Given the description of an element on the screen output the (x, y) to click on. 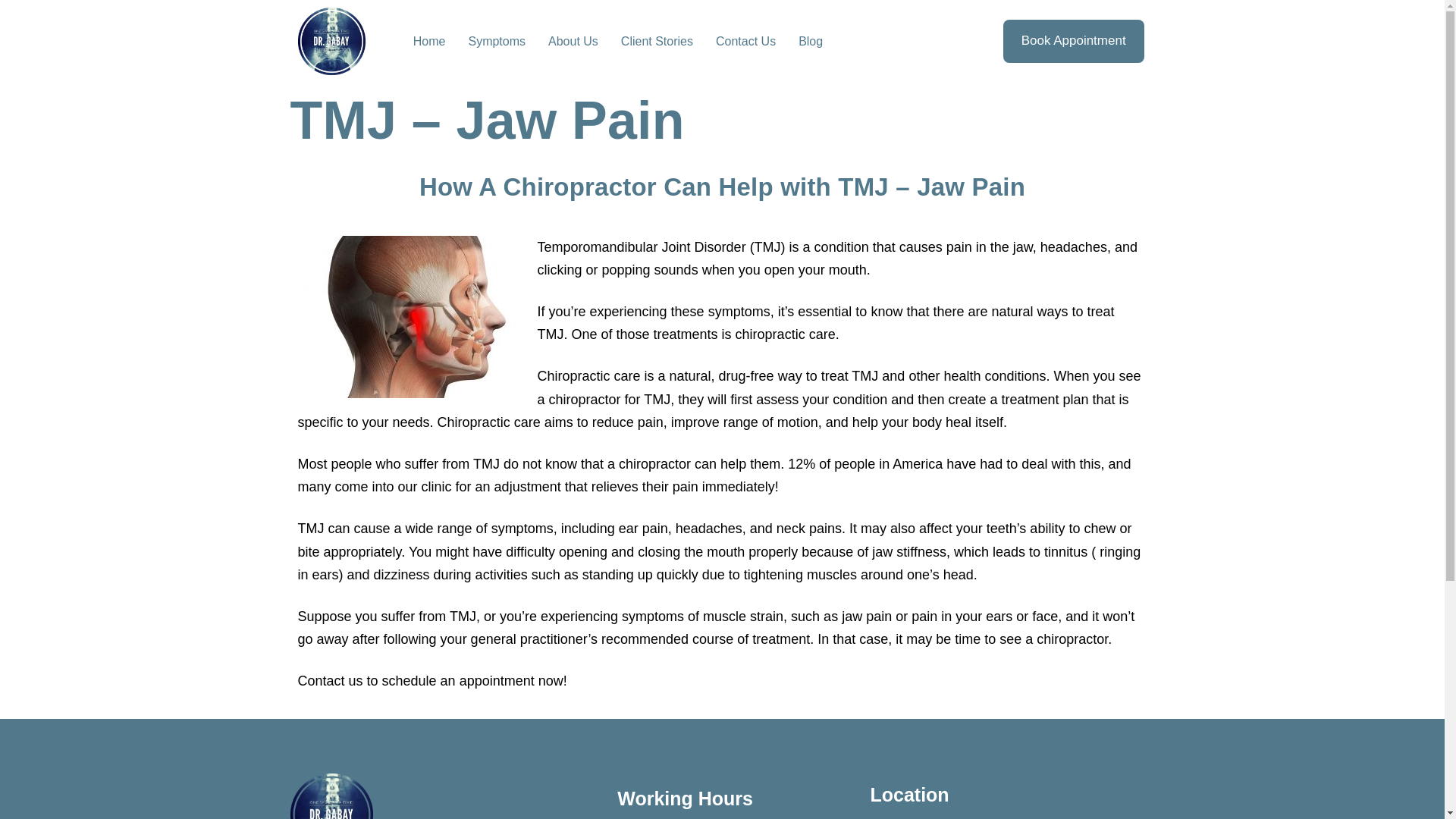
Client Stories (657, 41)
About Us (573, 41)
Symptoms (497, 41)
Home (429, 41)
TMJ - Jaw Pain 1 (410, 316)
Blog (810, 41)
Book Appointment (1073, 41)
Contact Us (745, 41)
